Given the description of an element on the screen output the (x, y) to click on. 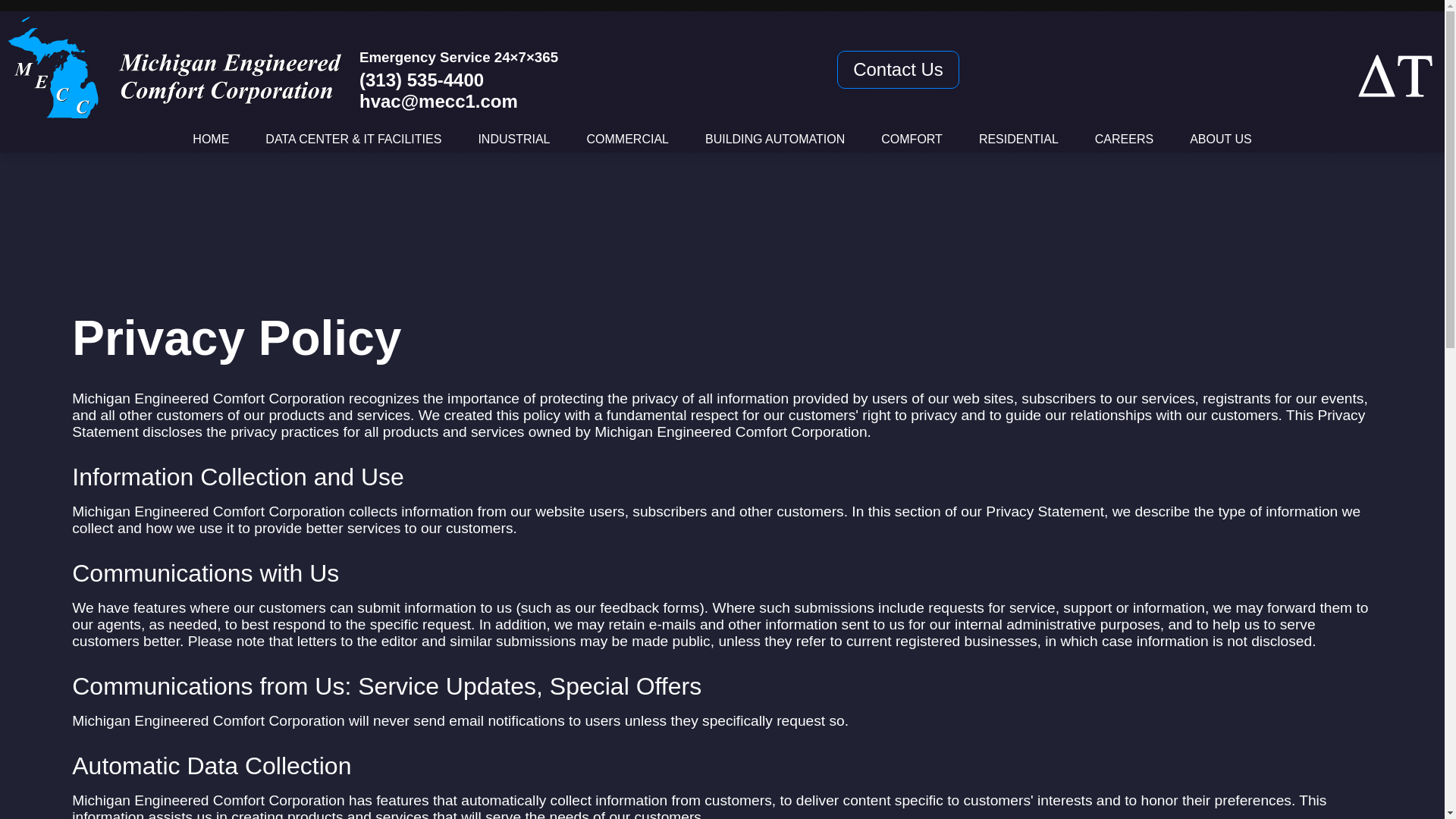
CAREERS (1123, 138)
COMMERCIAL (627, 138)
HOME (210, 138)
BUILDING AUTOMATION (774, 138)
Contact Us (898, 69)
INDUSTRIAL (513, 138)
COMFORT (911, 138)
RESIDENTIAL (1018, 138)
